Given the description of an element on the screen output the (x, y) to click on. 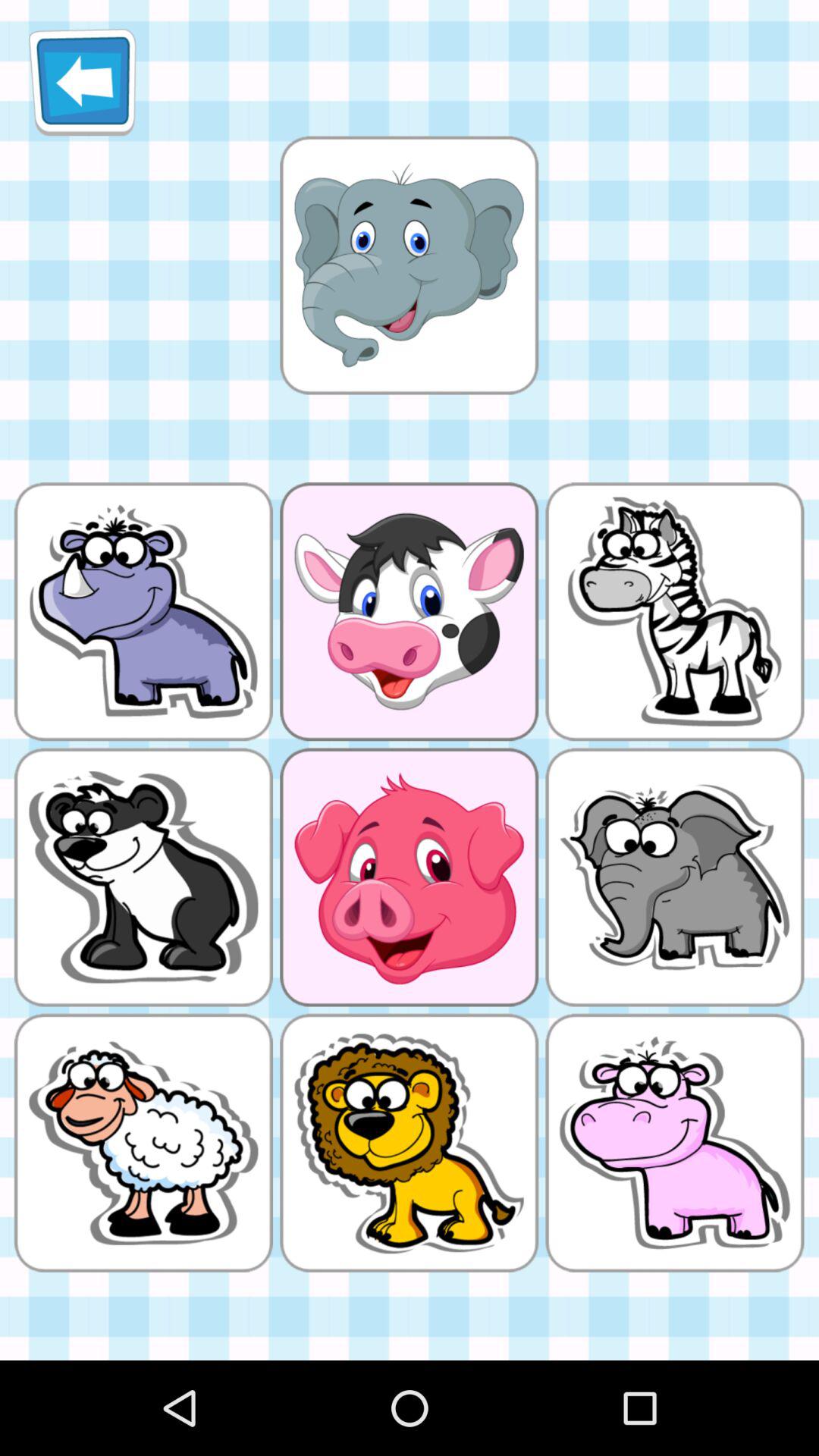
add to cart (409, 265)
